Given the description of an element on the screen output the (x, y) to click on. 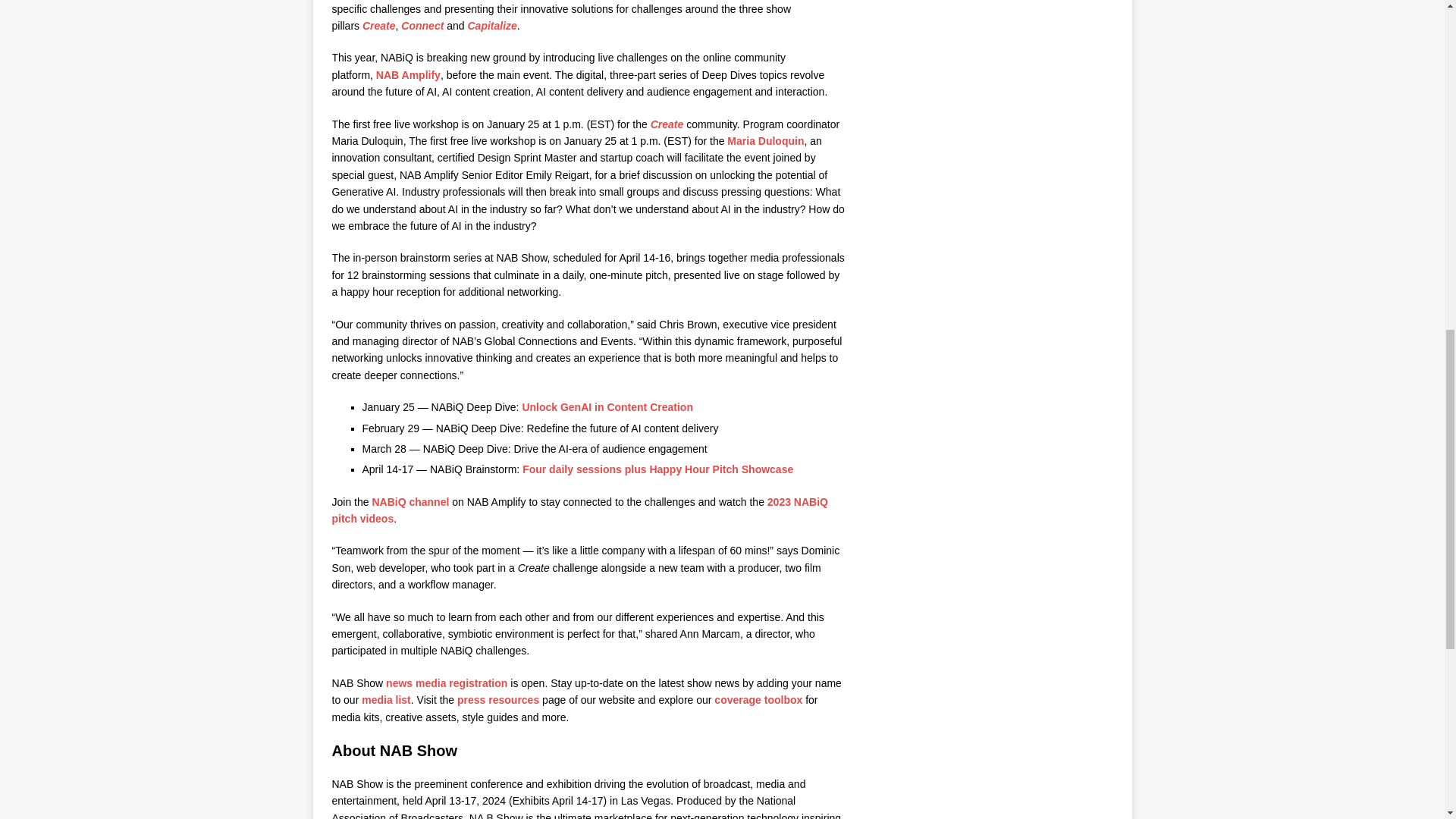
press resources (497, 699)
Capitalize (491, 25)
Create (379, 25)
Unlock GenAI in Content Creation (607, 407)
NAB Amplify (408, 74)
Connect (422, 25)
Maria Duloquin (764, 141)
NABiQ channel (409, 501)
2023 NABiQ pitch videos (579, 510)
Four daily sessions plus Happy Hour Pitch Showcase (657, 469)
